Given the description of an element on the screen output the (x, y) to click on. 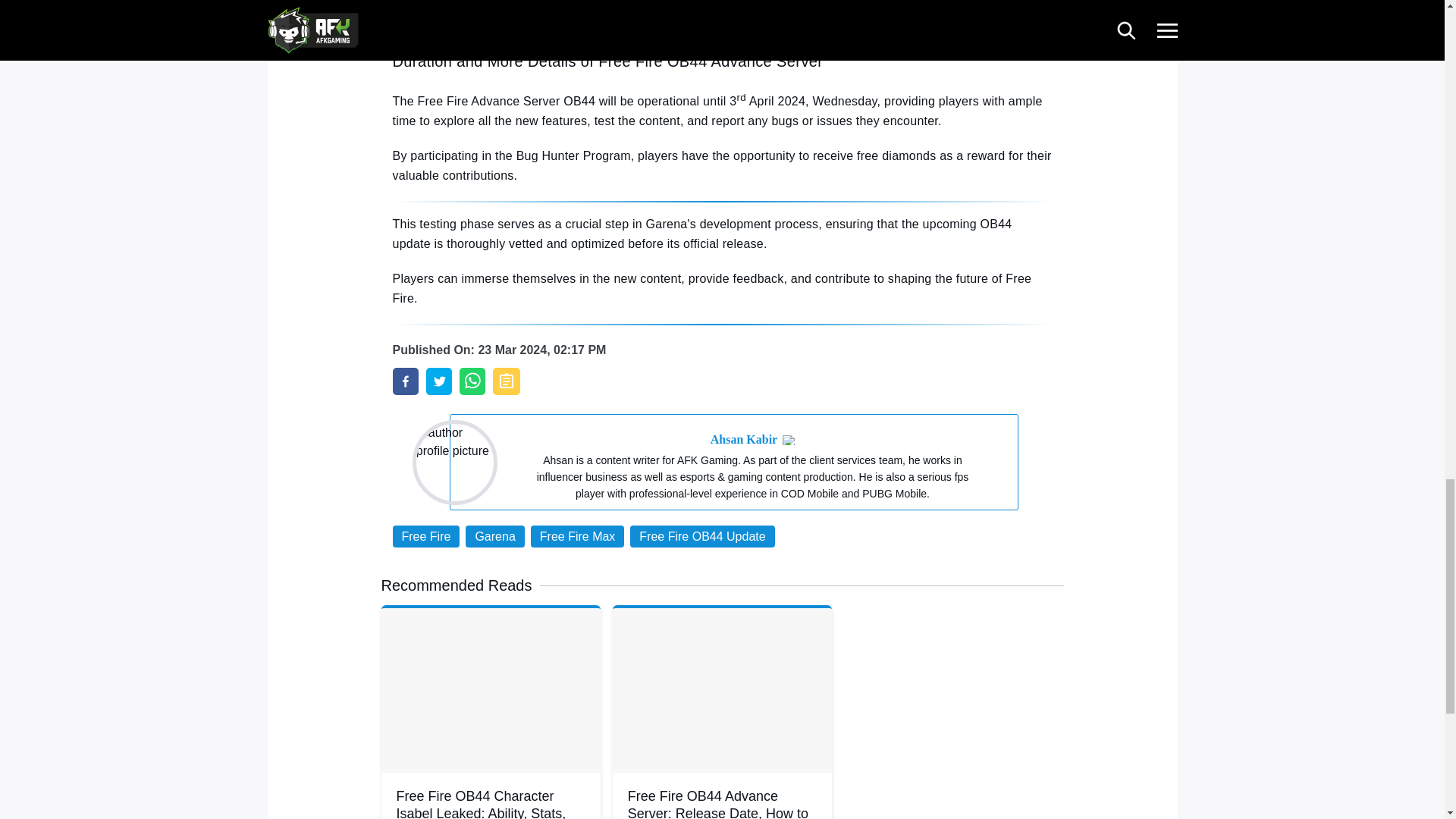
Free Fire Max (577, 536)
Garena (494, 536)
Free Fire (426, 536)
Ahsan Kabir (743, 439)
Free Fire OB44 Update (702, 536)
